Given the description of an element on the screen output the (x, y) to click on. 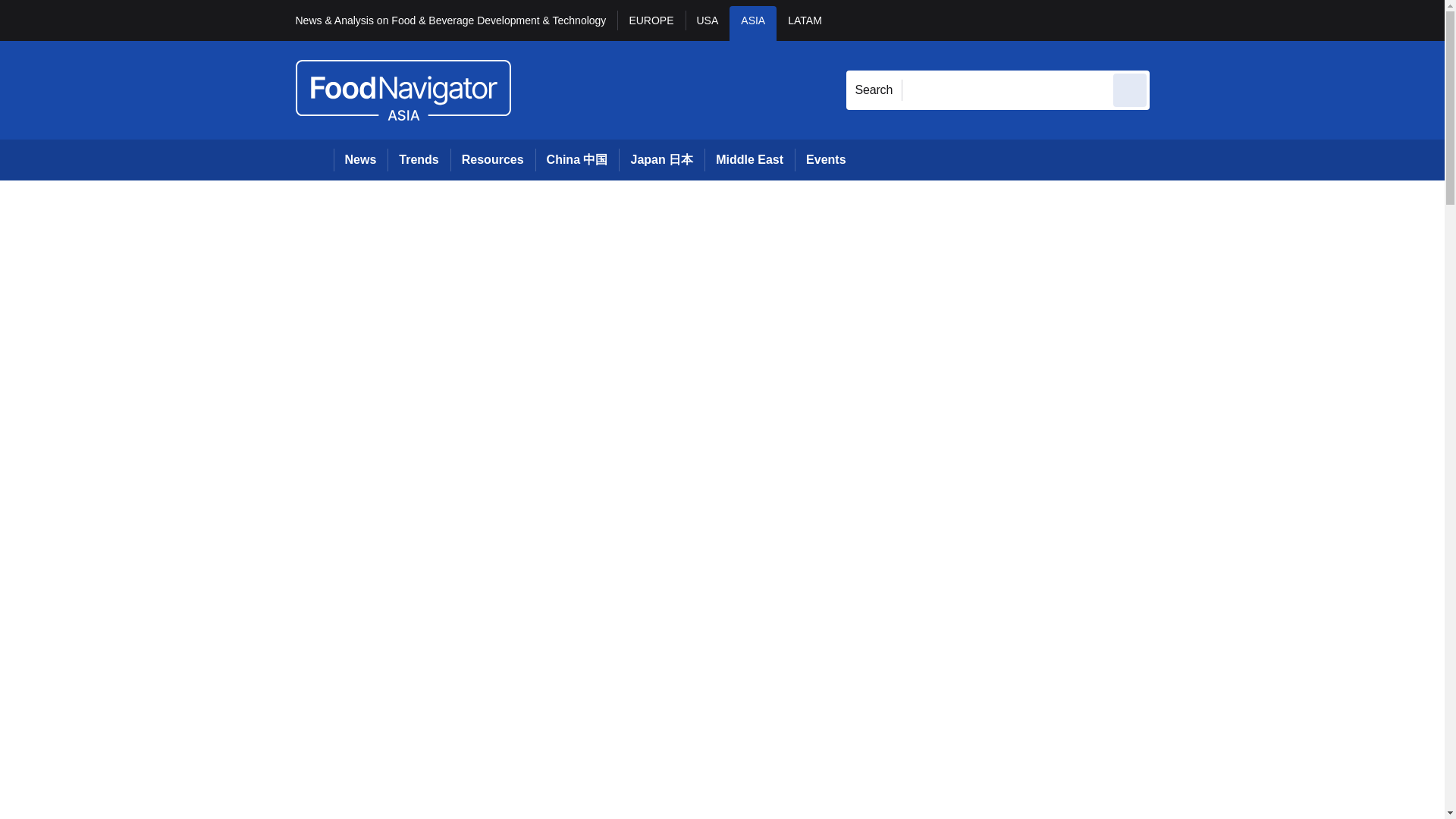
News (360, 159)
USA (707, 22)
Home (314, 159)
LATAM (804, 22)
Send (1129, 90)
Trends (418, 159)
ASIA (752, 22)
My account (1256, 20)
FoodNavigator Asia (403, 89)
Send (1129, 89)
